Given the description of an element on the screen output the (x, y) to click on. 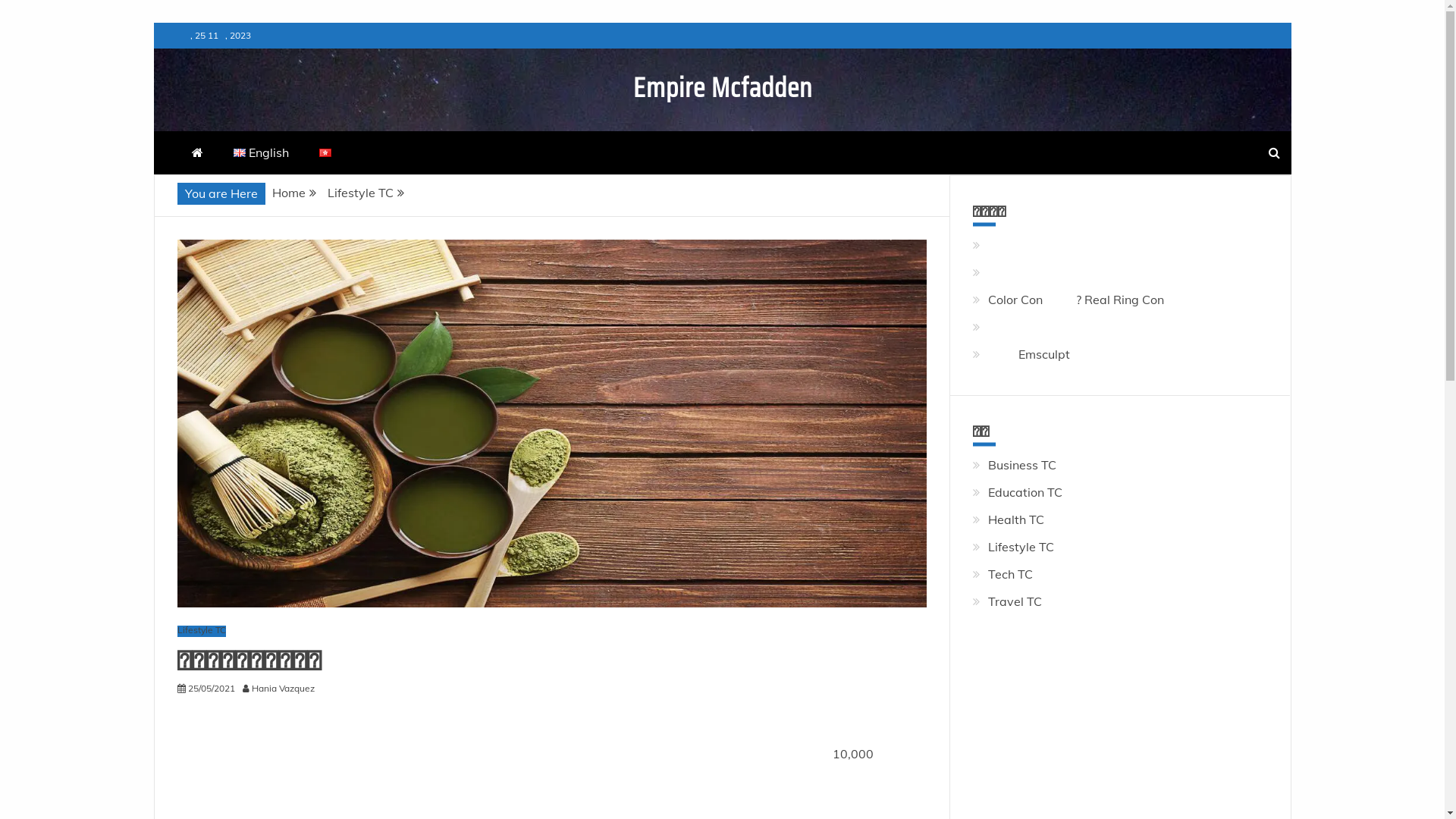
25/05/2021 Element type: text (211, 687)
Health TC Element type: text (1016, 519)
Home Element type: text (287, 192)
Education TC Element type: text (1025, 491)
Hania Vazquez Element type: text (286, 687)
English Element type: text (261, 152)
Lifestyle TC Element type: text (201, 631)
Lifestyle TC Element type: text (360, 192)
Skip to content Element type: text (153, 21)
Tech TC Element type: text (1010, 573)
Travel TC Element type: text (1014, 600)
Empire Mcfadden Element type: text (721, 87)
Lifestyle TC Element type: text (1021, 546)
Business TC Element type: text (1022, 464)
